Given the description of an element on the screen output the (x, y) to click on. 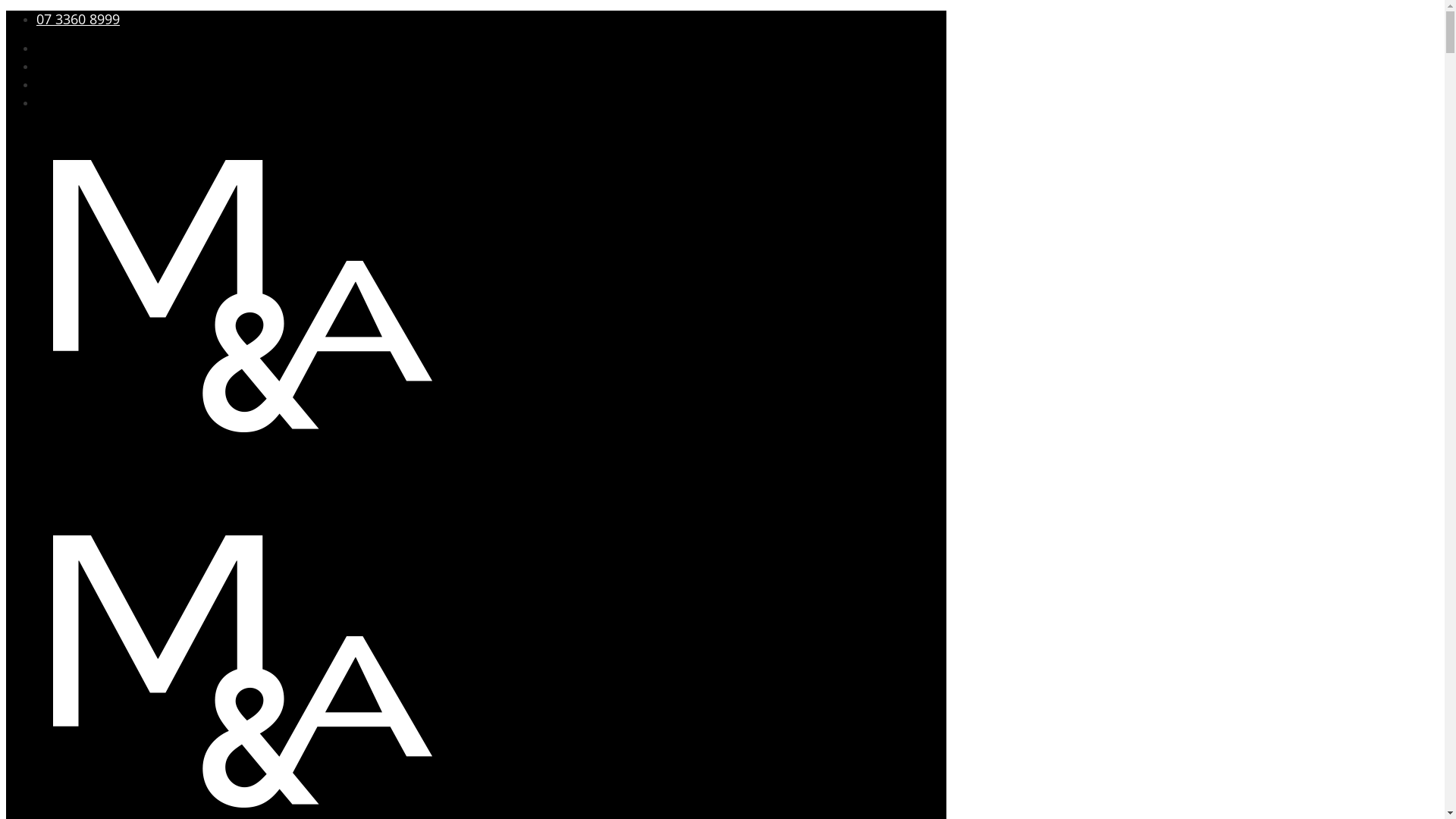
07 3360 8999 Element type: text (77, 18)
